Given the description of an element on the screen output the (x, y) to click on. 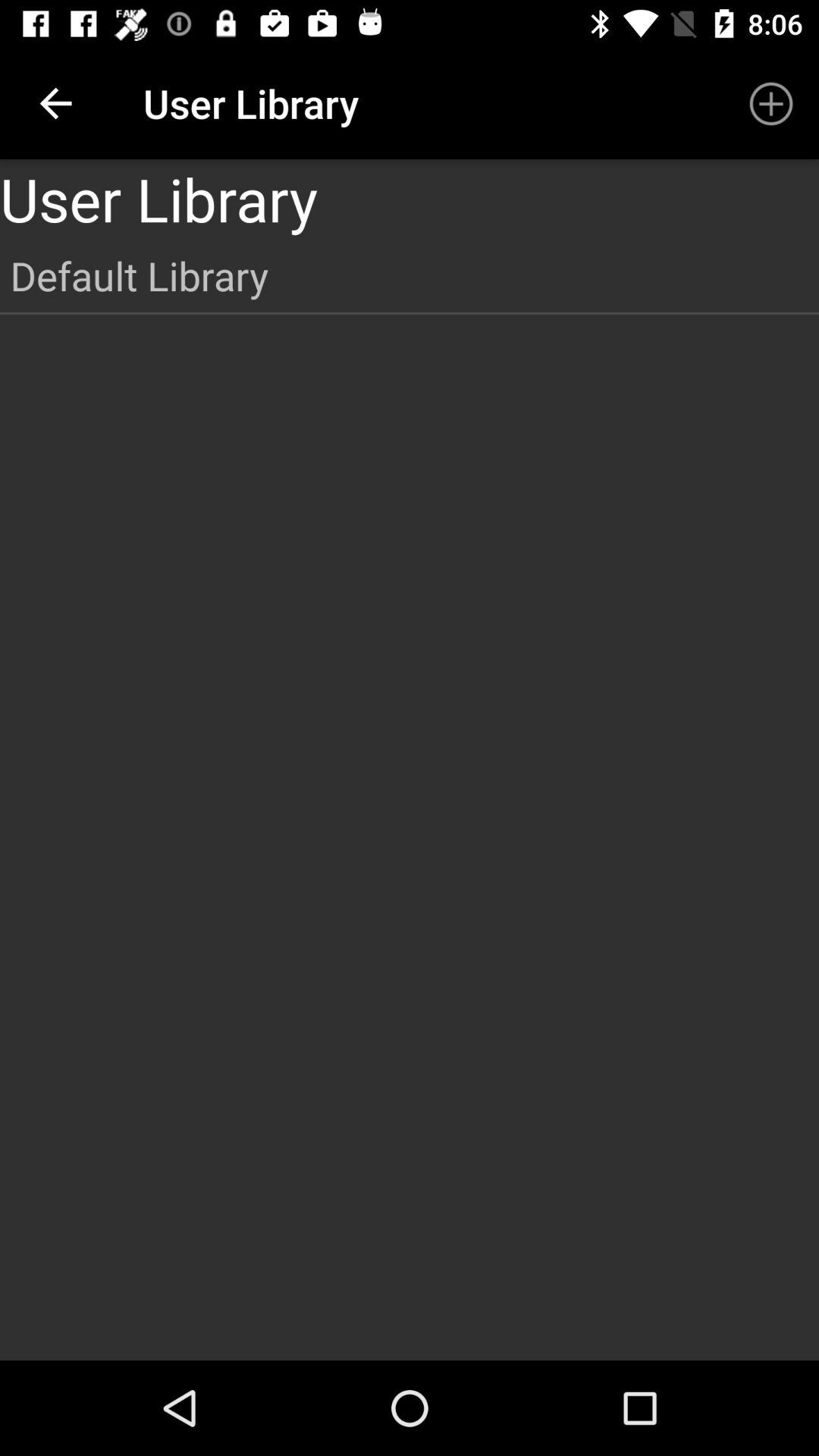
turn off the default library (409, 275)
